Given the description of an element on the screen output the (x, y) to click on. 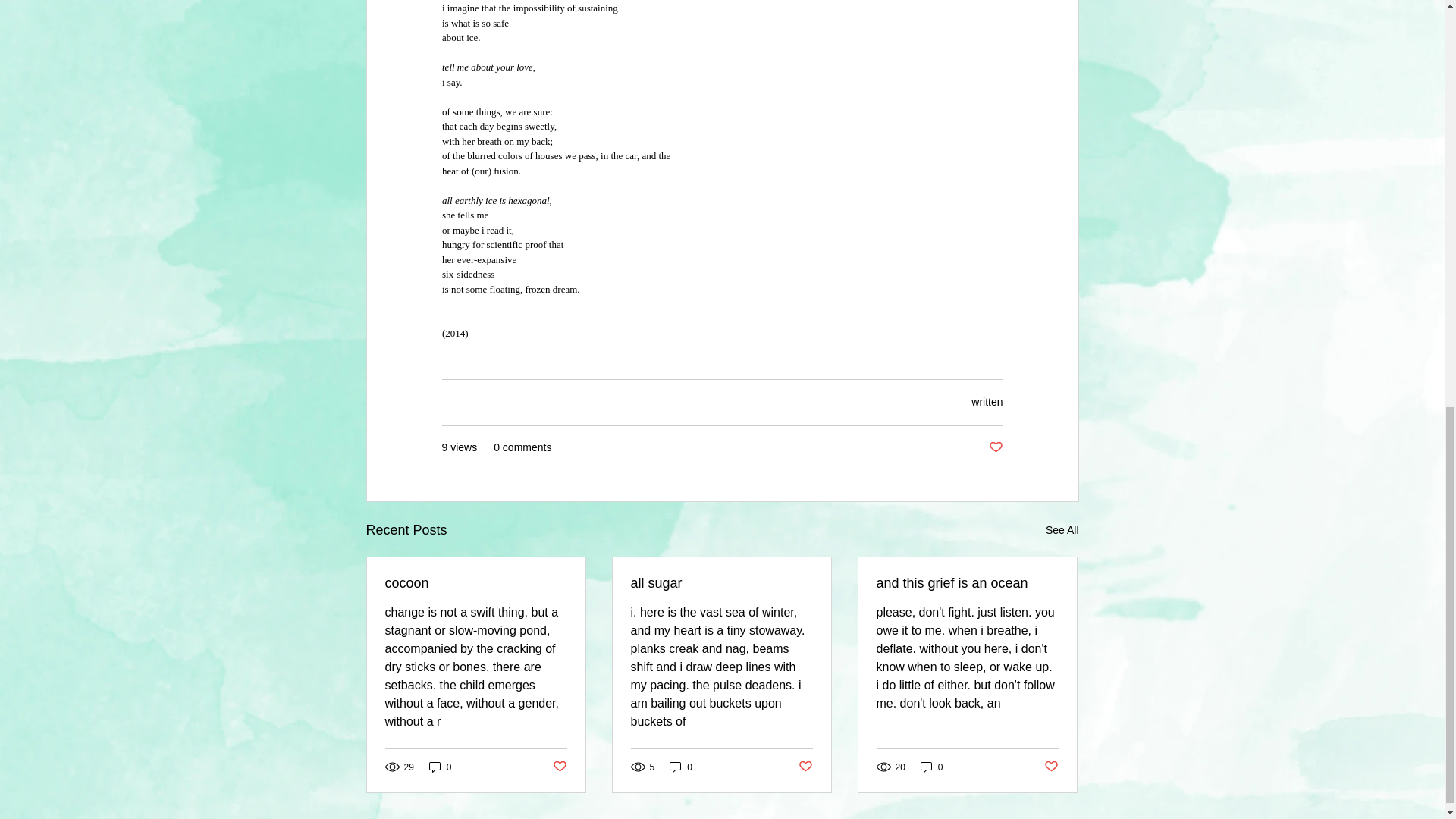
Post not marked as liked (995, 447)
Post not marked as liked (804, 766)
written (987, 401)
cocoon (476, 582)
Post not marked as liked (1050, 766)
all sugar (721, 582)
0 (931, 766)
and this grief is an ocean (967, 582)
See All (1061, 529)
0 (681, 766)
0 (440, 766)
Post not marked as liked (558, 766)
